Given the description of an element on the screen output the (x, y) to click on. 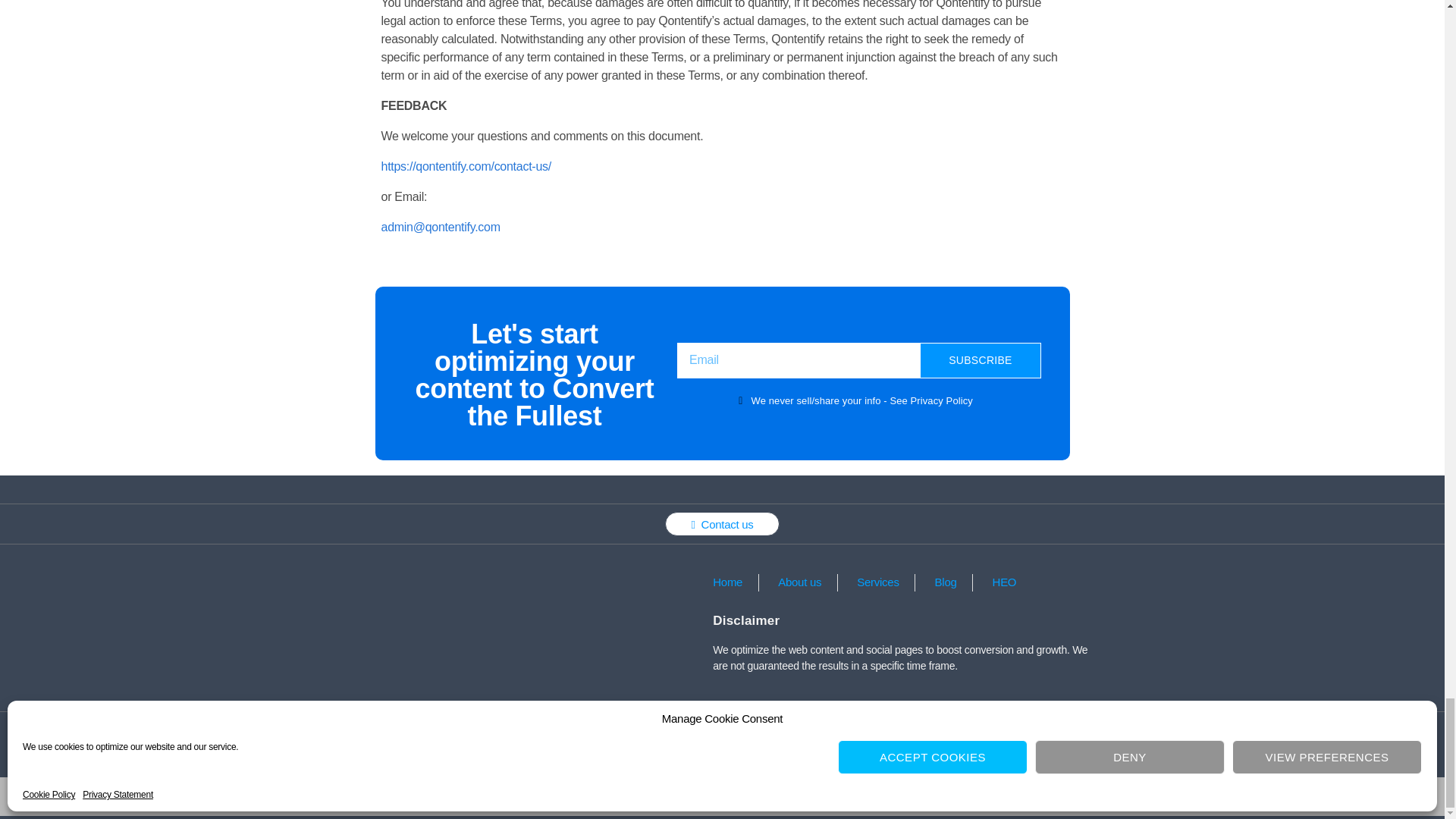
Services (875, 582)
SUBSCRIBE (980, 360)
Sitemap (956, 732)
About us (797, 582)
Qontentify (684, 796)
com (720, 796)
Home (725, 582)
Qont Privacy Policy (511, 732)
HEO (1002, 582)
Disclosure (877, 732)
Contact us (721, 523)
Blog (943, 582)
